Given the description of an element on the screen output the (x, y) to click on. 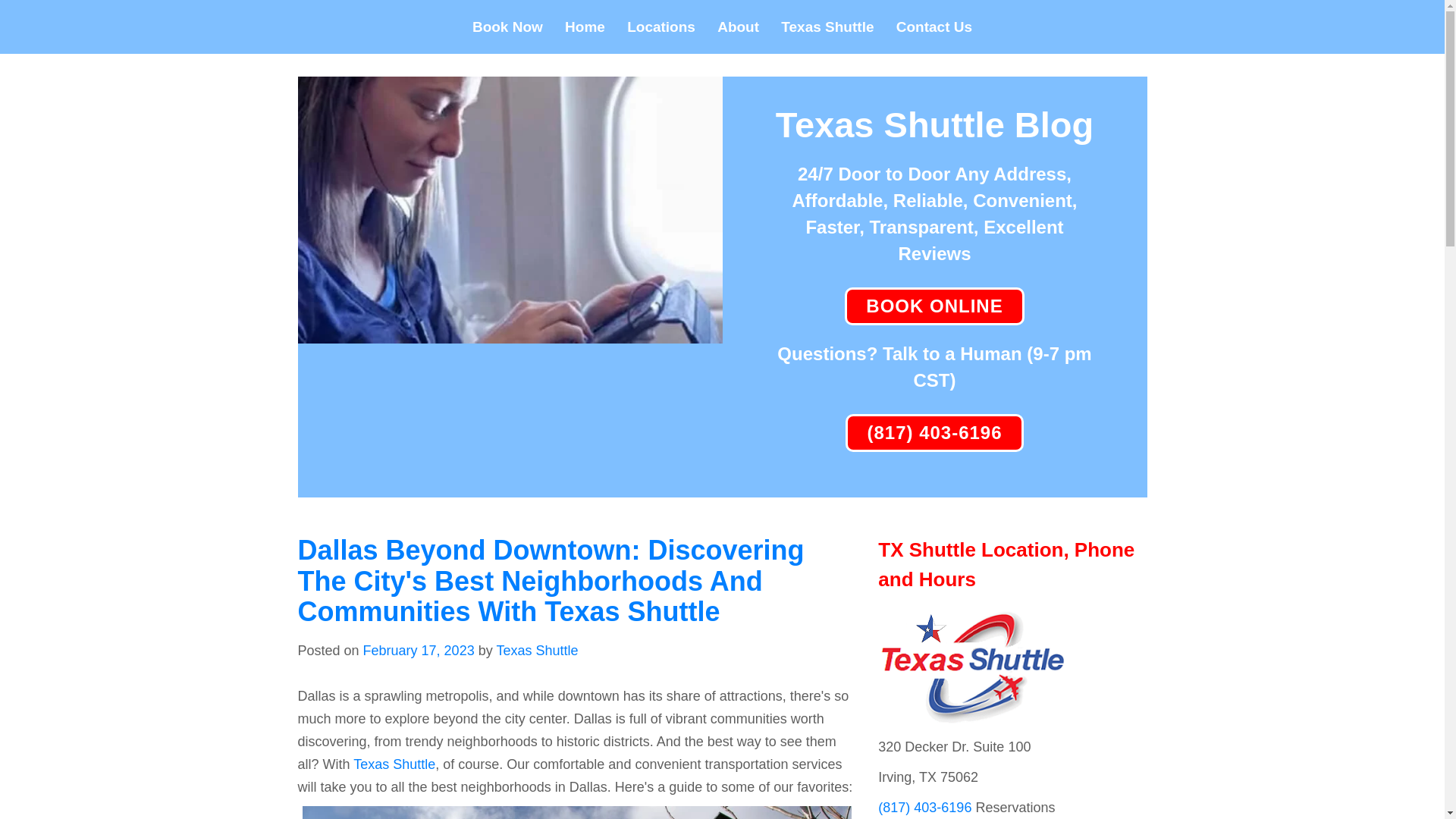
Texas Shuttle Book Online (509, 331)
BOOK ONLINE (933, 306)
Article Date (418, 650)
Book Airport Shuttle Online (933, 306)
Author Name (537, 650)
Texas Shuttle (826, 27)
Contact Us (933, 27)
Texas Shuttle Phone Number (934, 433)
February 17, 2023 (418, 650)
Texas Shuttle (394, 764)
Home (585, 27)
Book Now (507, 27)
Texas Shuttle (537, 650)
About (737, 27)
Locations (661, 27)
